Given the description of an element on the screen output the (x, y) to click on. 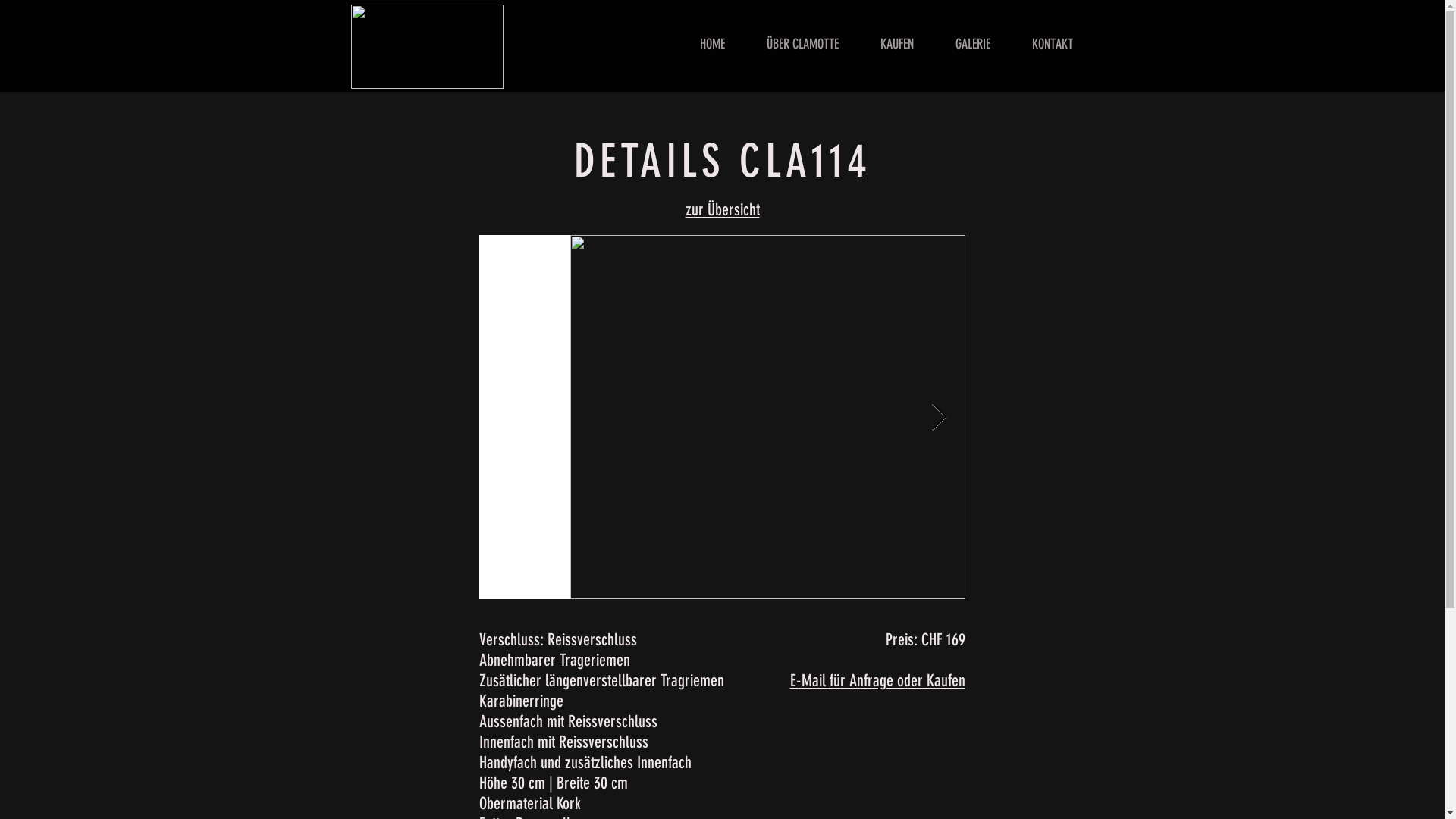
KAUFEN Element type: text (897, 44)
GALERIE Element type: text (972, 44)
KONTAKT Element type: text (1052, 44)
HOME Element type: text (711, 44)
